Given the description of an element on the screen output the (x, y) to click on. 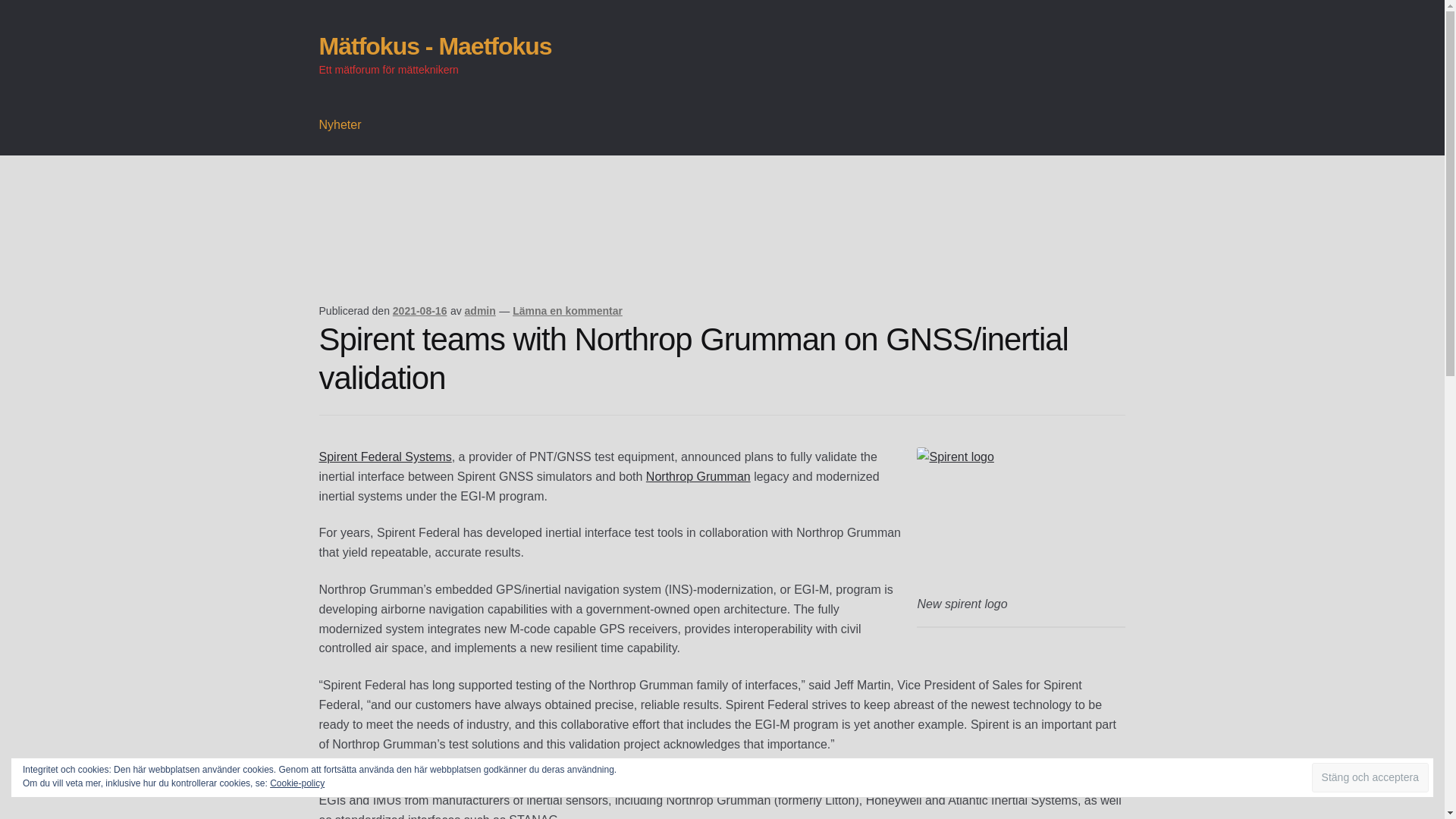
Spirent Federal Systems (384, 456)
Northrop Grumman (698, 476)
2021-08-16 (419, 310)
Nyheter (340, 124)
admin (480, 310)
Cookie-policy (296, 783)
SimINERTIAL (922, 780)
